Given the description of an element on the screen output the (x, y) to click on. 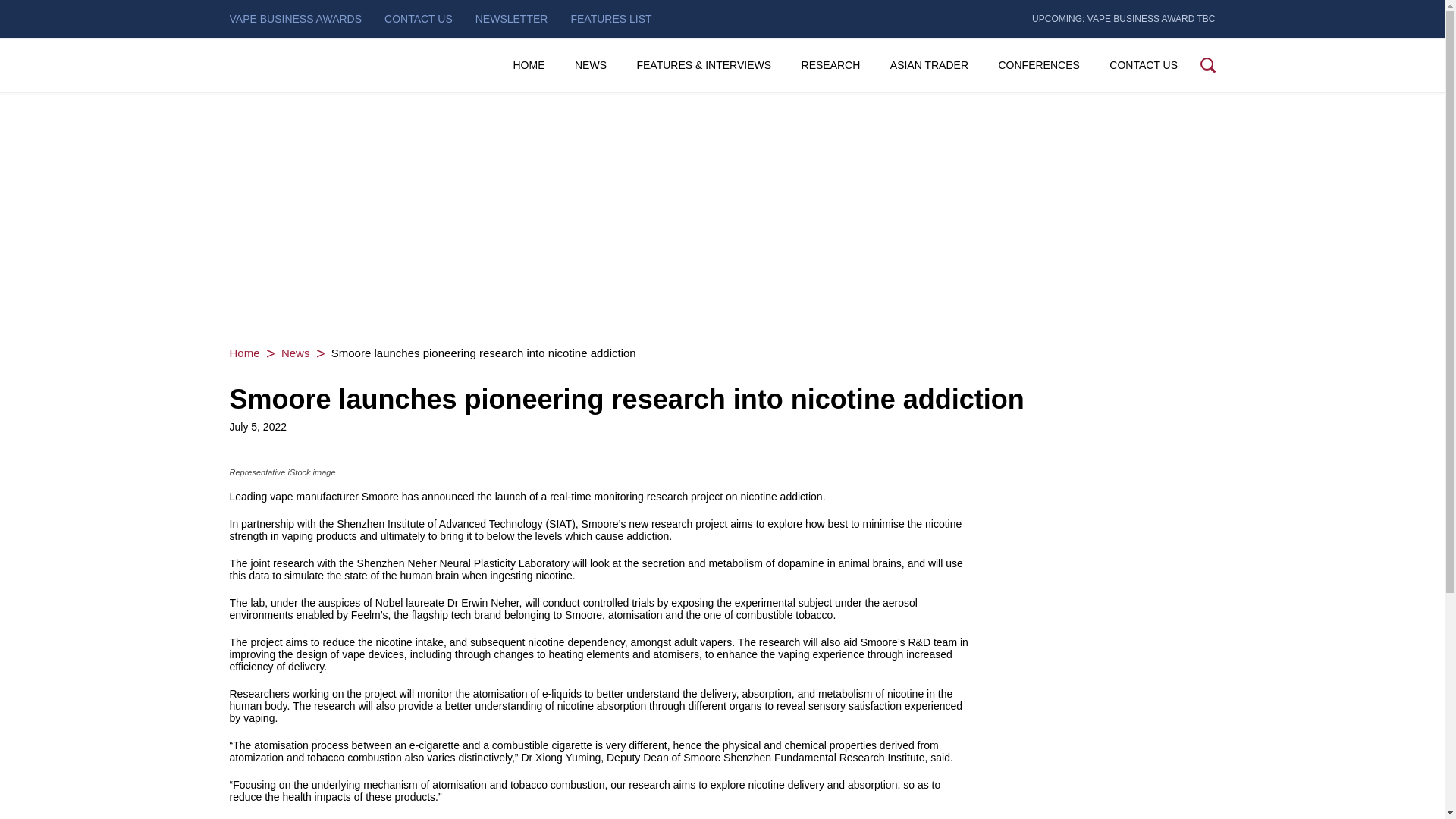
Home (243, 352)
HOME (528, 64)
CONTACT US (1143, 64)
CONTACT US (418, 18)
News (295, 352)
FEATURES LIST (610, 18)
NEWS (590, 64)
ASIAN TRADER (928, 64)
View all posts in Entertainment (295, 352)
VAPE BUSINESS AWARDS (294, 18)
CONFERENCES (1038, 64)
RESEARCH (830, 64)
NEWSLETTER (512, 18)
